Given the description of an element on the screen output the (x, y) to click on. 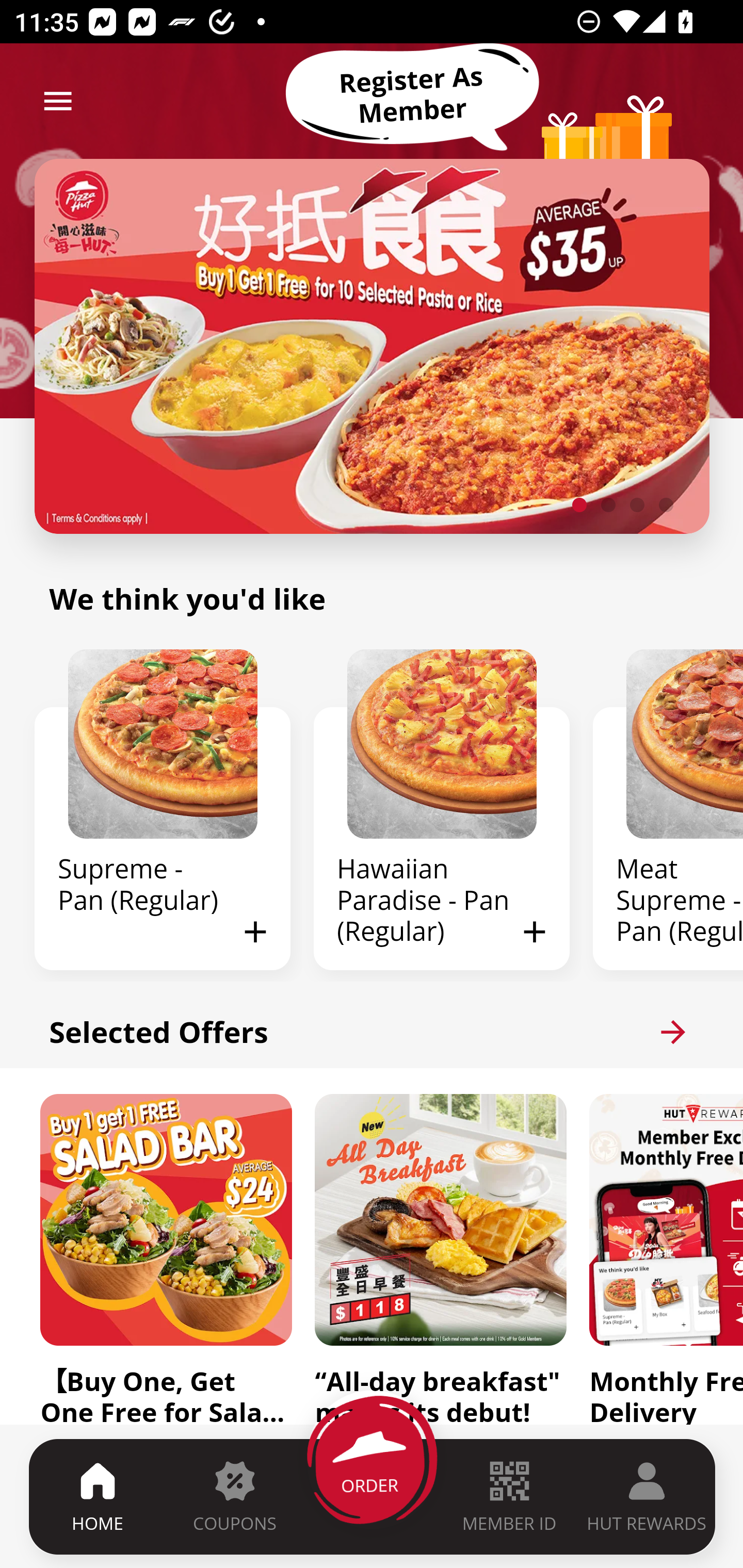
Register As Member (411, 95)
menu (58, 100)
arrow_forward (672, 1031)
HOME (97, 1496)
COUPONS (234, 1496)
ORDER (372, 1496)
MEMBER ID (509, 1496)
HUT REWARDS (647, 1496)
